Given the description of an element on the screen output the (x, y) to click on. 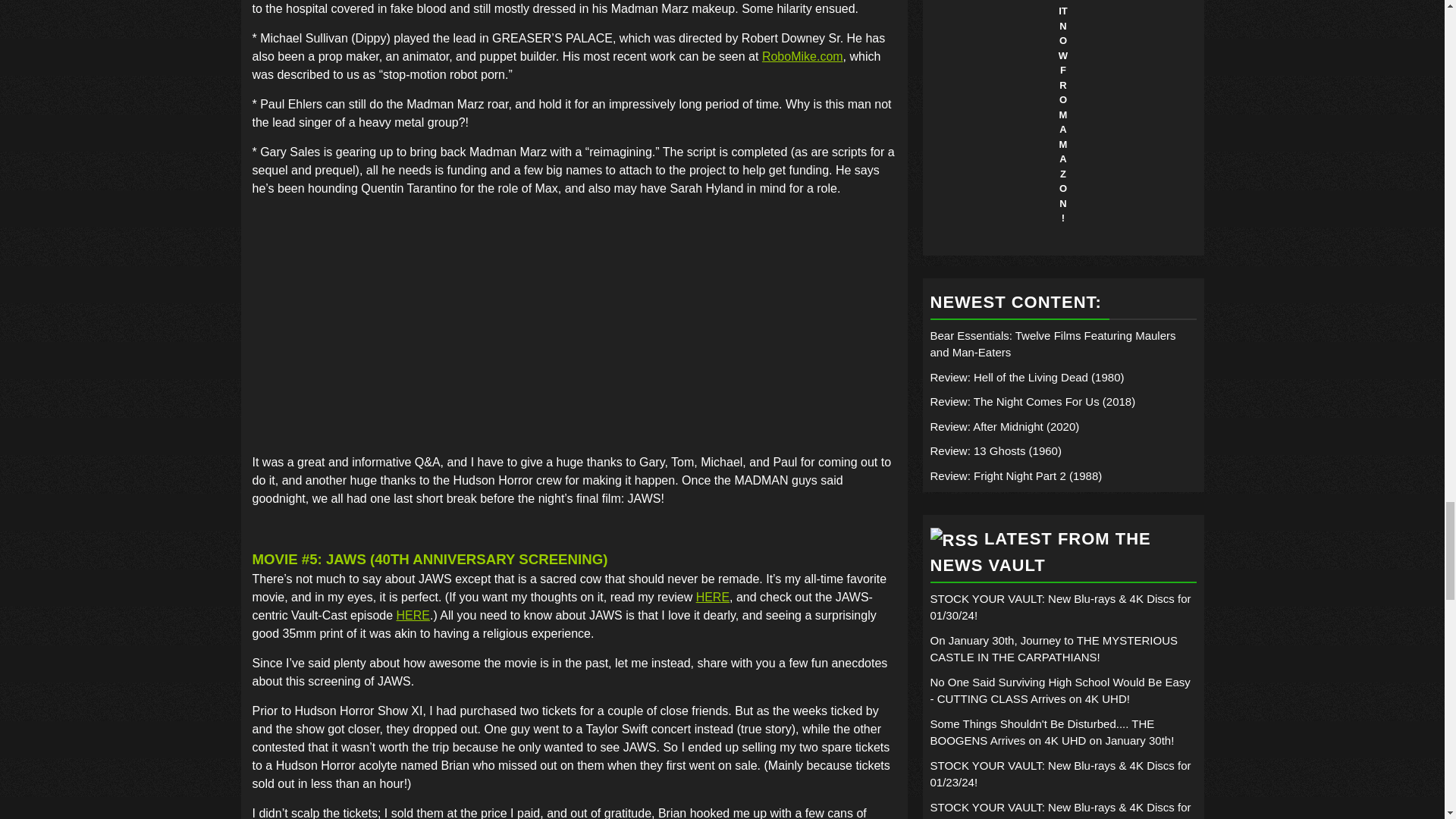
RoboMike.com (802, 56)
HERE (712, 596)
HERE (412, 615)
